Given the description of an element on the screen output the (x, y) to click on. 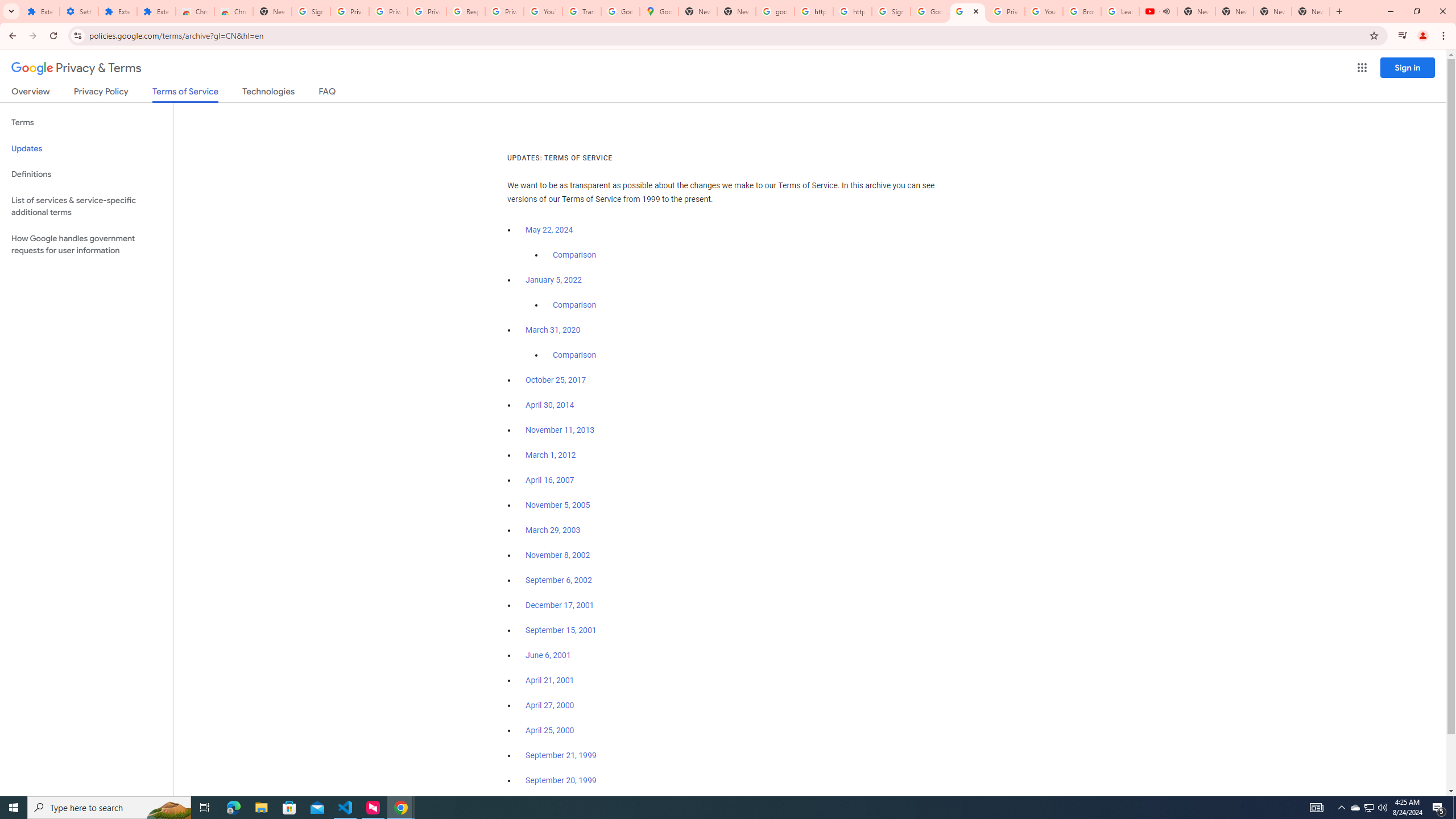
https://scholar.google.com/ (852, 11)
September 6, 2002 (558, 579)
January 5, 2022 (553, 280)
November 11, 2013 (560, 430)
https://scholar.google.com/ (813, 11)
September 21, 1999 (560, 755)
May 22, 2024 (549, 230)
